Given the description of an element on the screen output the (x, y) to click on. 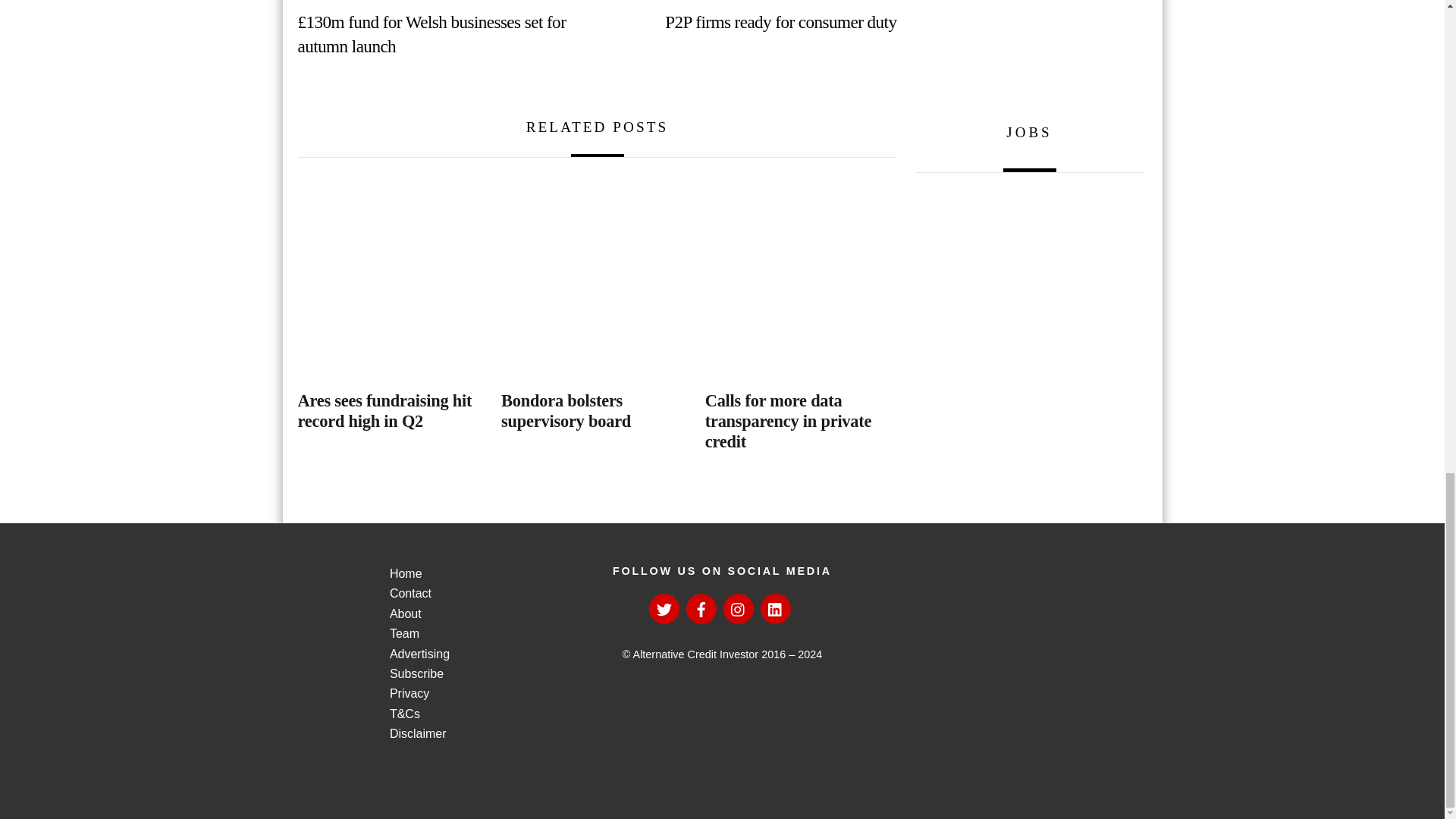
Ares second-quarter results (393, 278)
Calls for more data transparency in private credit (800, 278)
Bondora bolsters supervisory board (596, 278)
